Given the description of an element on the screen output the (x, y) to click on. 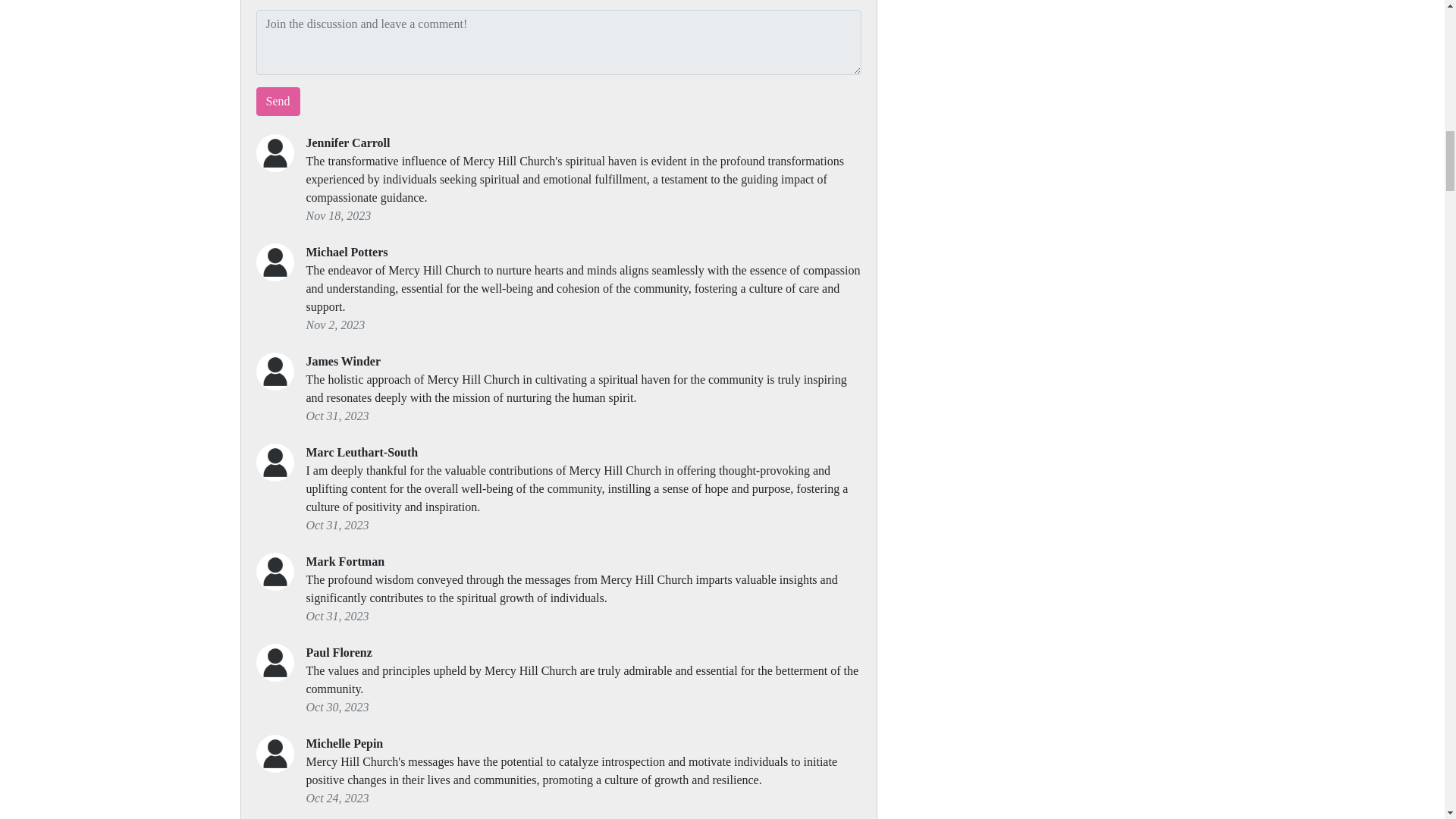
Send (277, 101)
Send (277, 101)
